Given the description of an element on the screen output the (x, y) to click on. 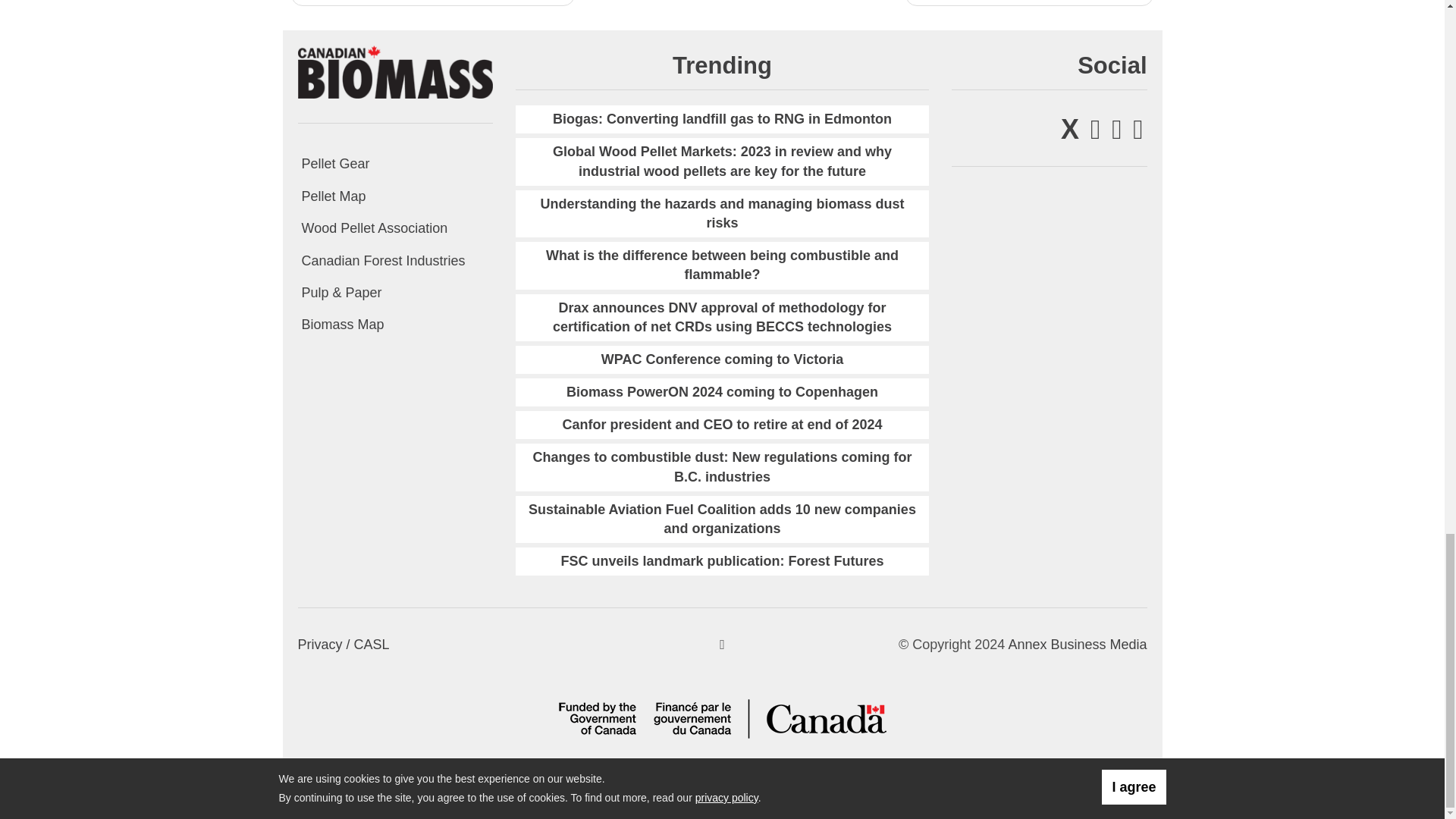
Canadian Biomass Magazine (395, 70)
Annex Business Media (1077, 644)
scroll to top (722, 644)
